Given the description of an element on the screen output the (x, y) to click on. 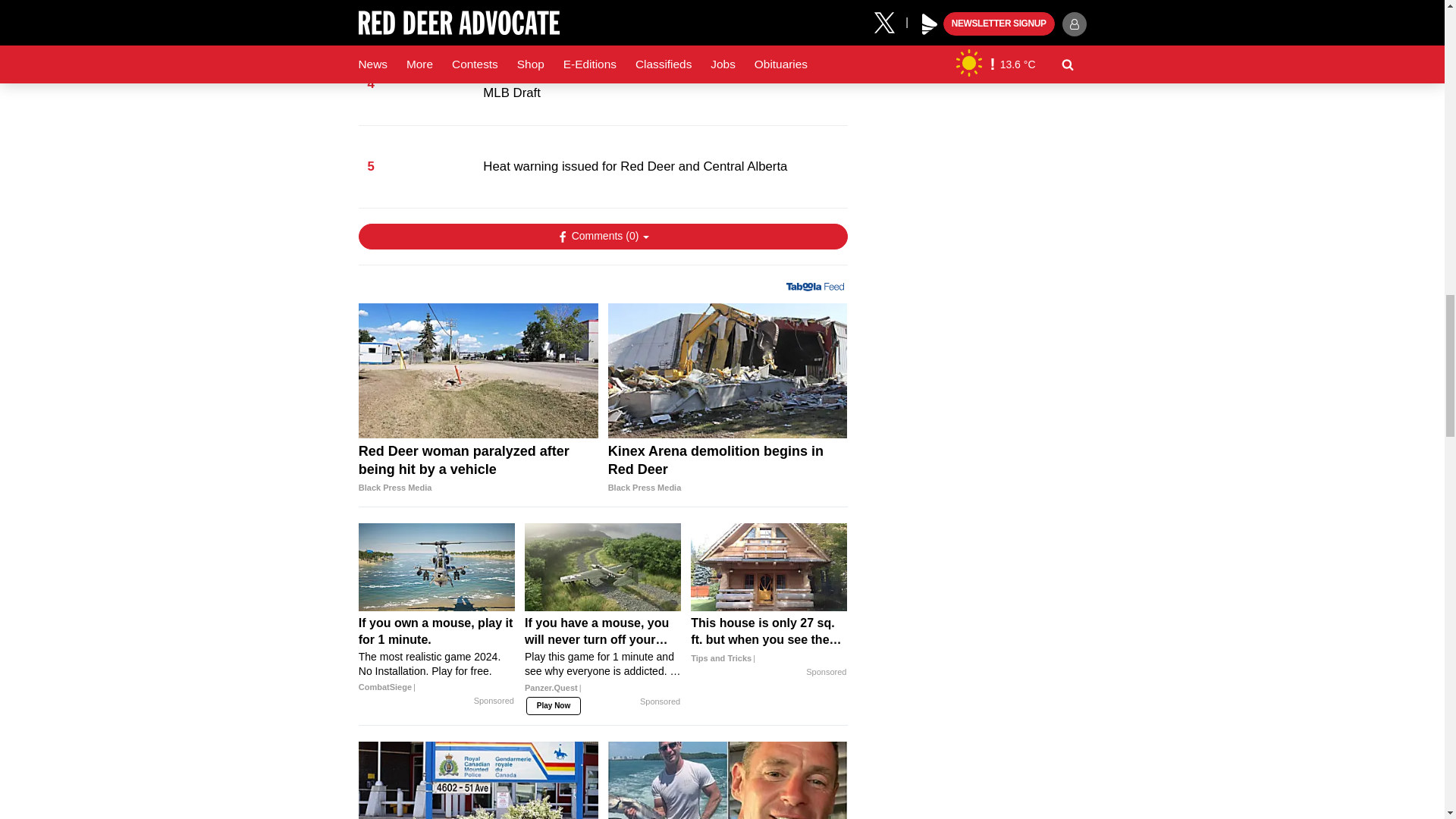
Red Deer woman paralyzed after being hit by a vehicle (478, 370)
Show Comments (602, 236)
Kinex Arena demolition begins in Red Deer (727, 370)
If you own a mouse, play it for 1 minute. (436, 566)
Red Deer woman paralyzed after being hit by a vehicle (478, 469)
Kinex Arena demolition begins in Red Deer (727, 469)
